Given the description of an element on the screen output the (x, y) to click on. 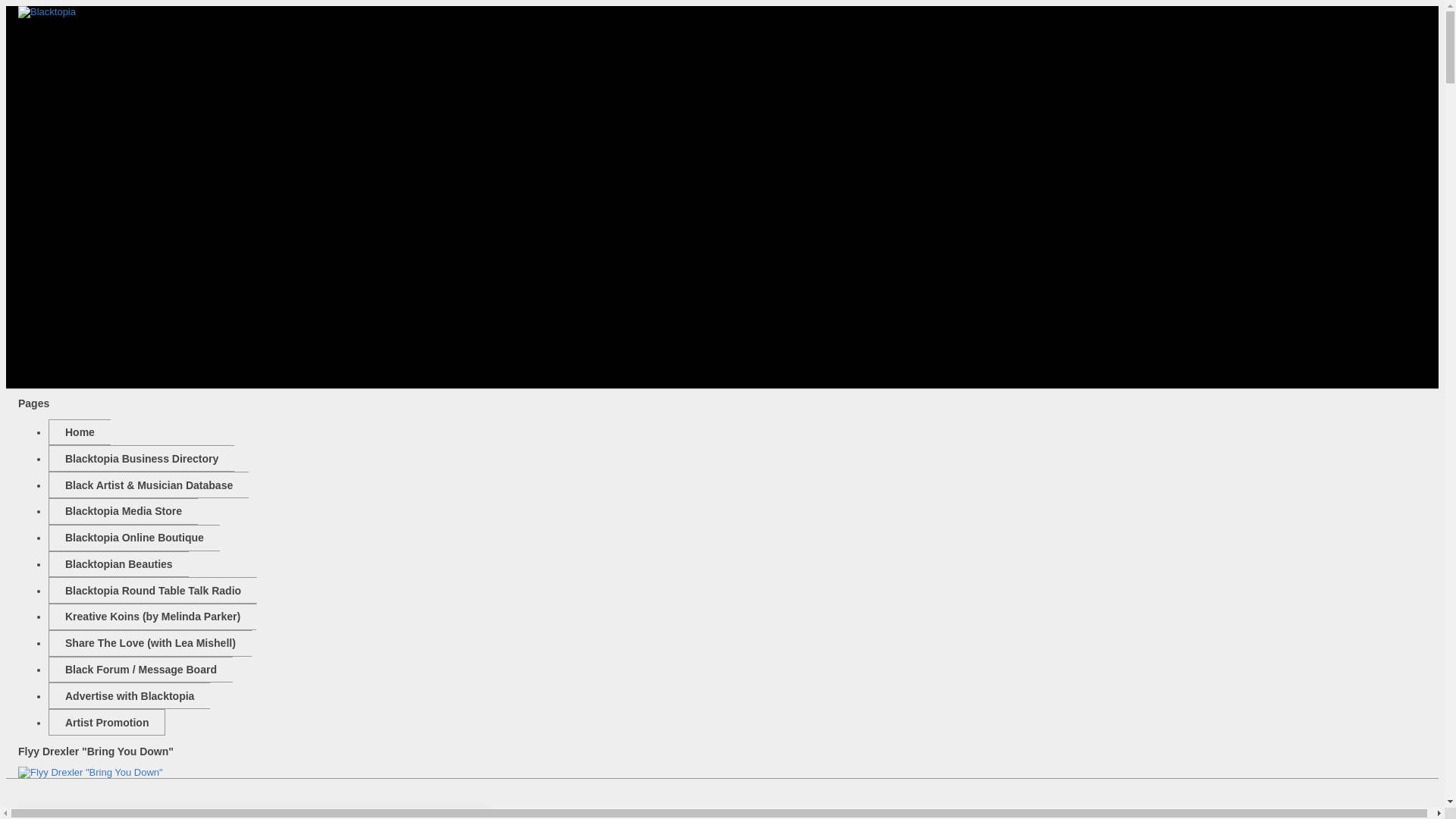
Blacktopia Business Directory (141, 458)
Advertise with Blacktopia (128, 695)
Blacktopia Online Boutique (133, 537)
Blacktopian Beauties (118, 564)
Artist Promotion (106, 722)
Blacktopia Round Table Talk Radio (152, 590)
Home (79, 432)
Blacktopia Media Store (123, 510)
